Given the description of an element on the screen output the (x, y) to click on. 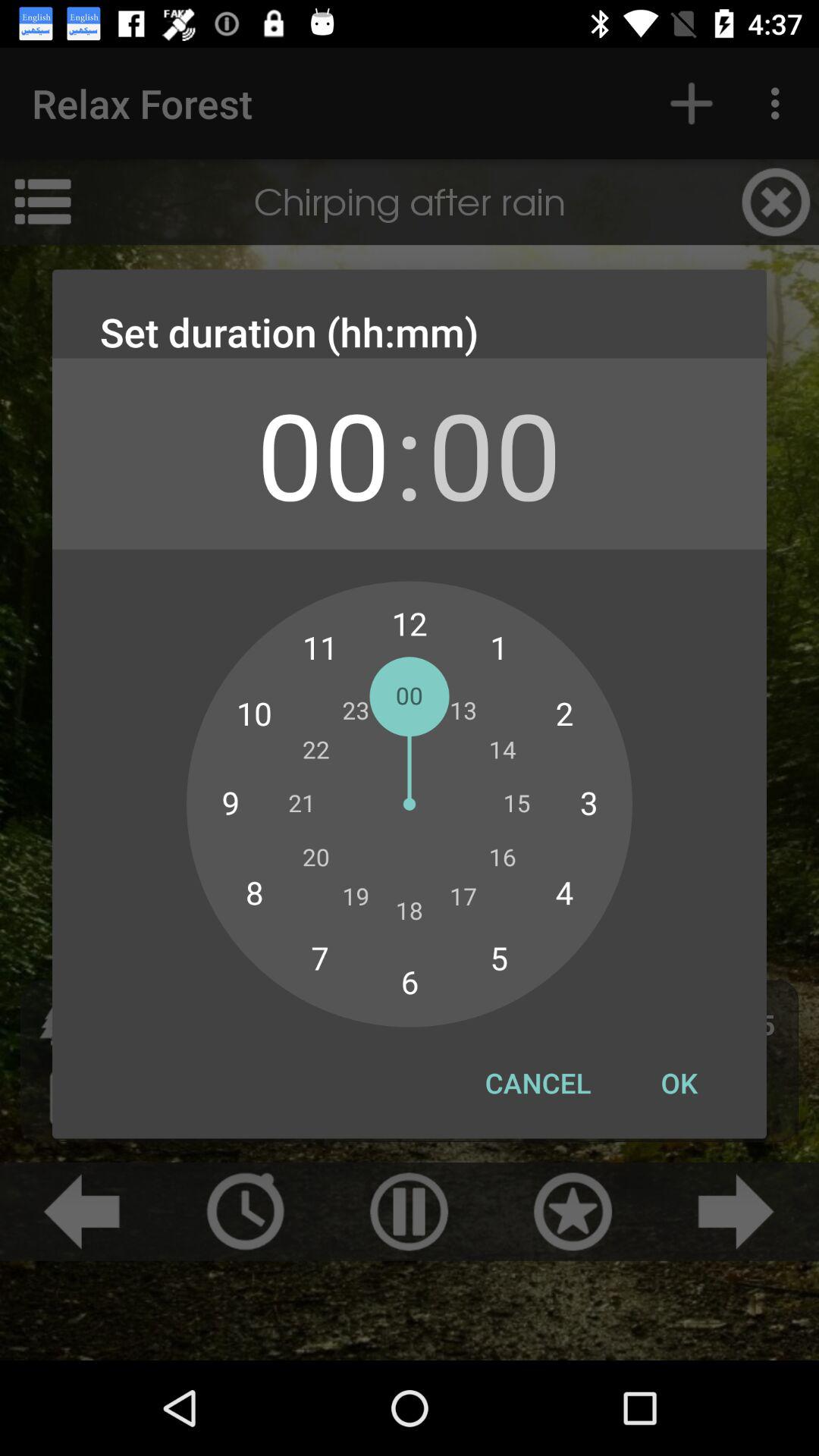
select the icon to the right of cancel button (678, 1082)
